Given the description of an element on the screen output the (x, y) to click on. 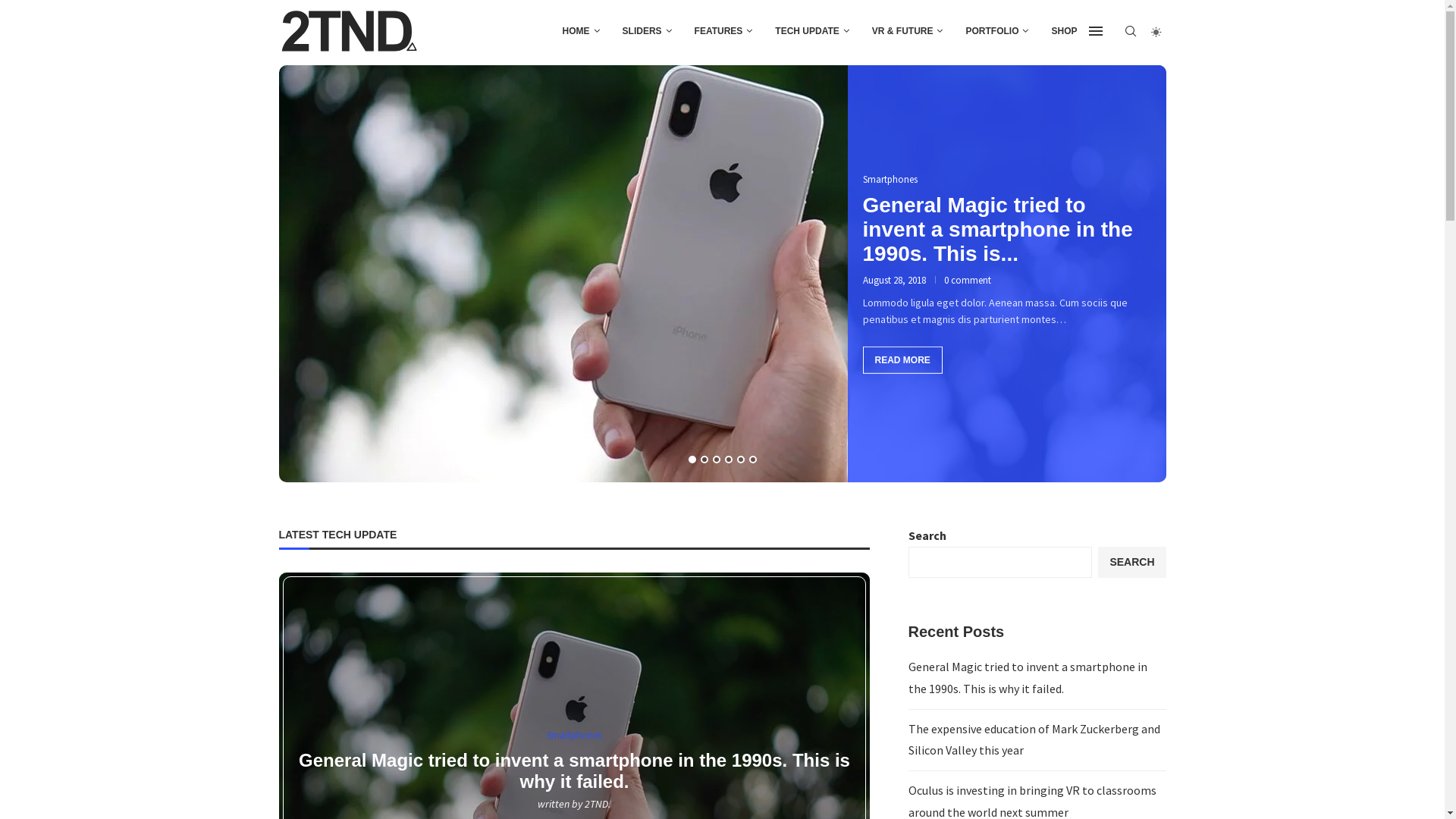
0 comment Element type: text (456, 279)
FEATURES Element type: text (723, 30)
SLIDERS Element type: text (646, 30)
Smartphones Element type: text (573, 735)
PORTFOLIO Element type: text (996, 30)
SEARCH Element type: text (1131, 561)
VR & Future Element type: text (524, 179)
SHOP Element type: text (1063, 30)
VR & FUTURE Element type: text (907, 30)
TECH UPDATE Element type: text (811, 30)
Search Element type: text (128, 15)
HOME Element type: text (580, 30)
READ MORE Element type: text (311, 359)
2TND. Element type: text (597, 802)
